Given the description of an element on the screen output the (x, y) to click on. 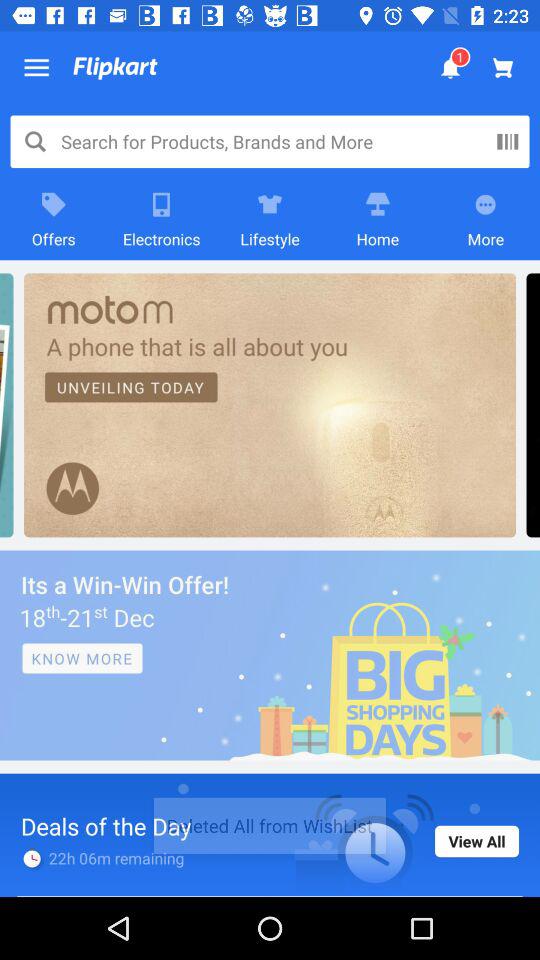
tap the item above the search for products item (36, 68)
